Given the description of an element on the screen output the (x, y) to click on. 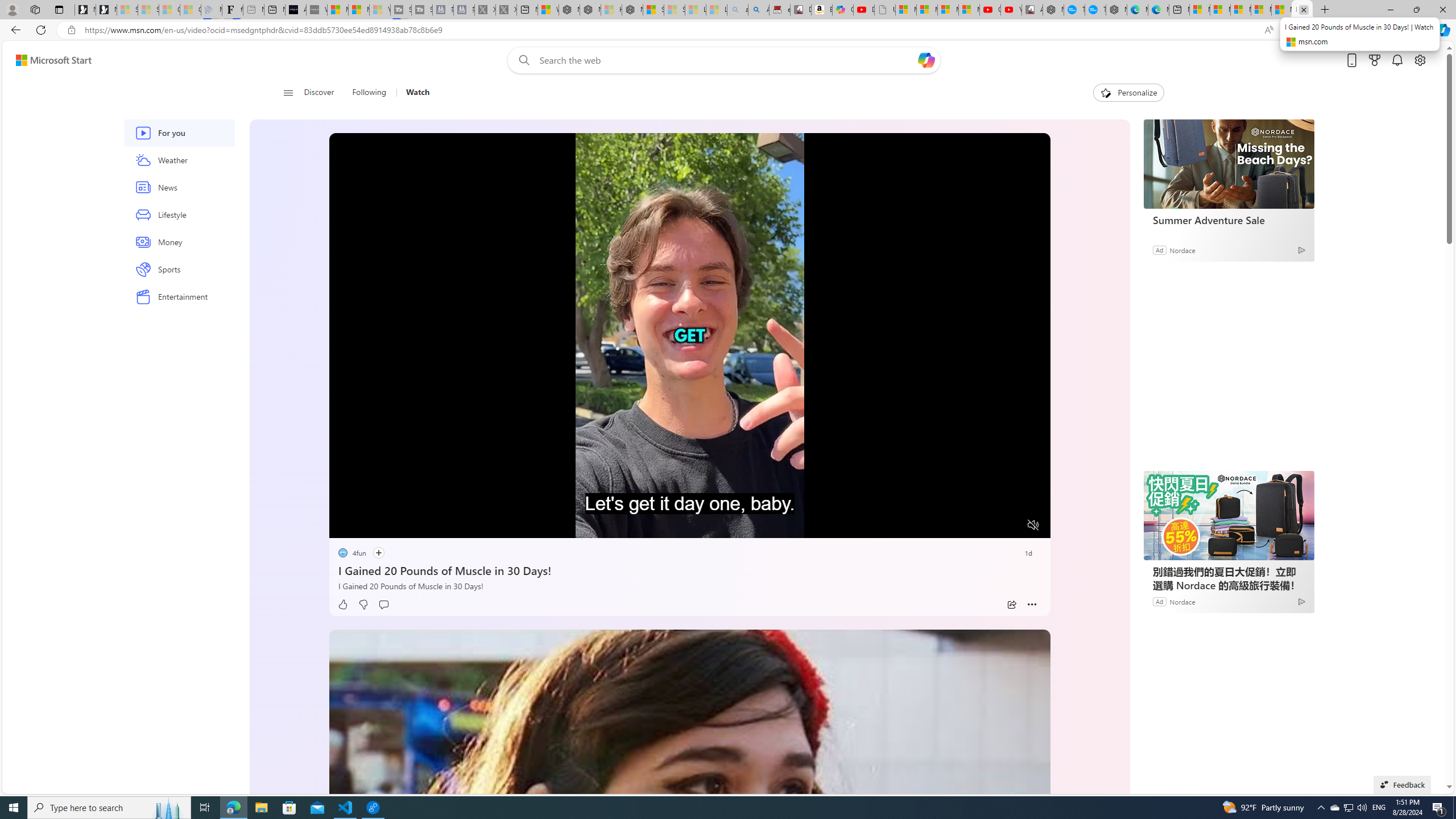
X - Sleeping (505, 9)
App bar (728, 29)
Watch (412, 92)
Discover (319, 92)
Streaming Coverage | T3 - Sleeping (400, 9)
Skip to footer (46, 59)
Seek Forward (391, 525)
Share (1010, 604)
I Gained 20 Pounds of Muscle in 30 Days! | Watch (1302, 9)
Settings and more (Alt+F) (1419, 29)
Unmute (1033, 524)
